Given the description of an element on the screen output the (x, y) to click on. 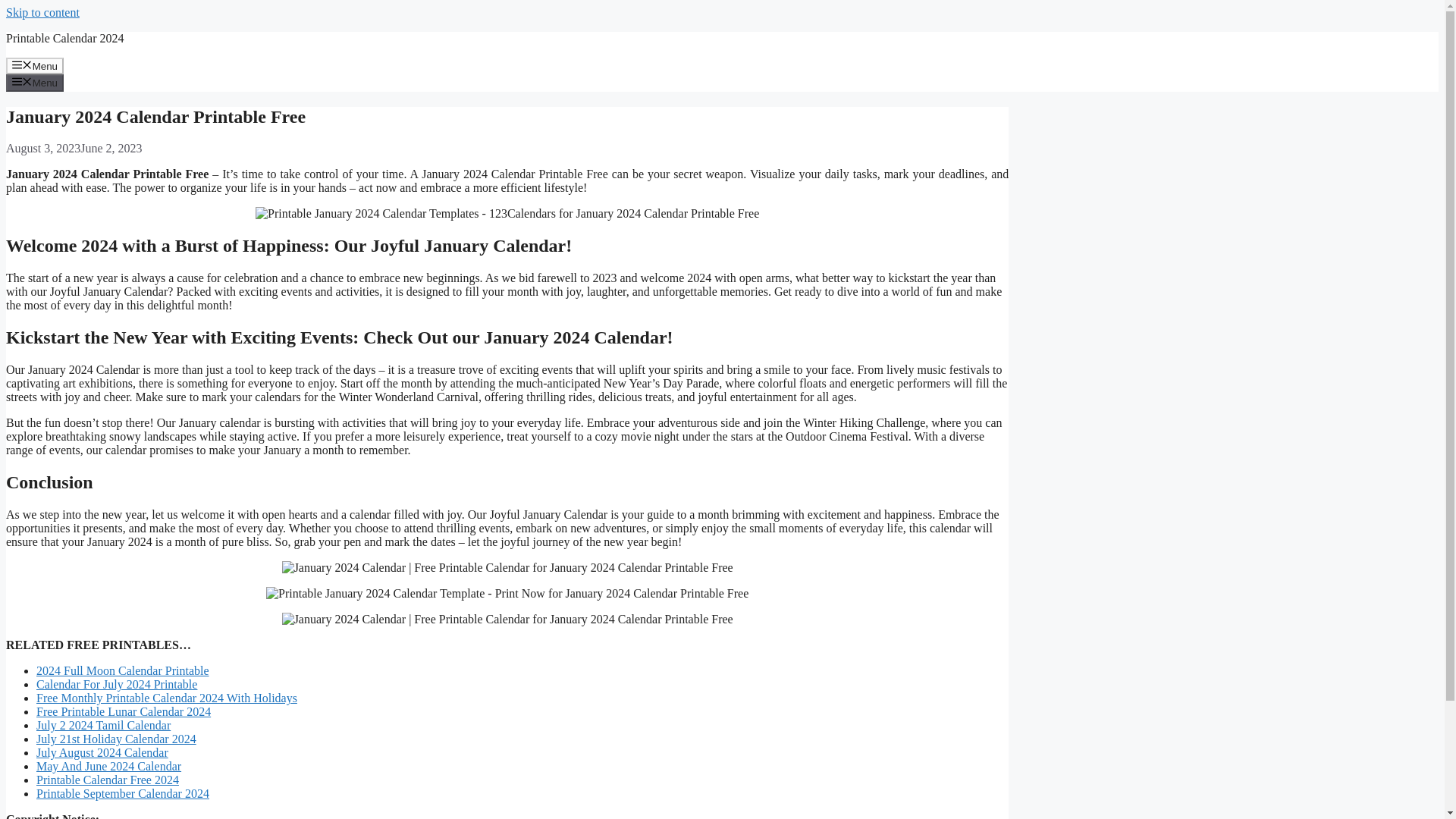
Menu (34, 65)
Free Printable Lunar Calendar 2024 (123, 711)
Printable September Calendar 2024 (122, 793)
Free Monthly Printable Calendar 2024 With Holidays (166, 697)
May And June 2024 Calendar (108, 766)
Printable Calendar 2024 (64, 38)
July August 2024 Calendar (102, 752)
July 2 2024 Tamil Calendar (103, 725)
Skip to content (42, 11)
July 21st Holiday Calendar 2024 (116, 738)
Skip to content (42, 11)
Printable Calendar Free 2024 (107, 779)
2024 Full Moon Calendar Printable (122, 670)
Menu (34, 82)
Calendar For July 2024 Printable (116, 684)
